Given the description of an element on the screen output the (x, y) to click on. 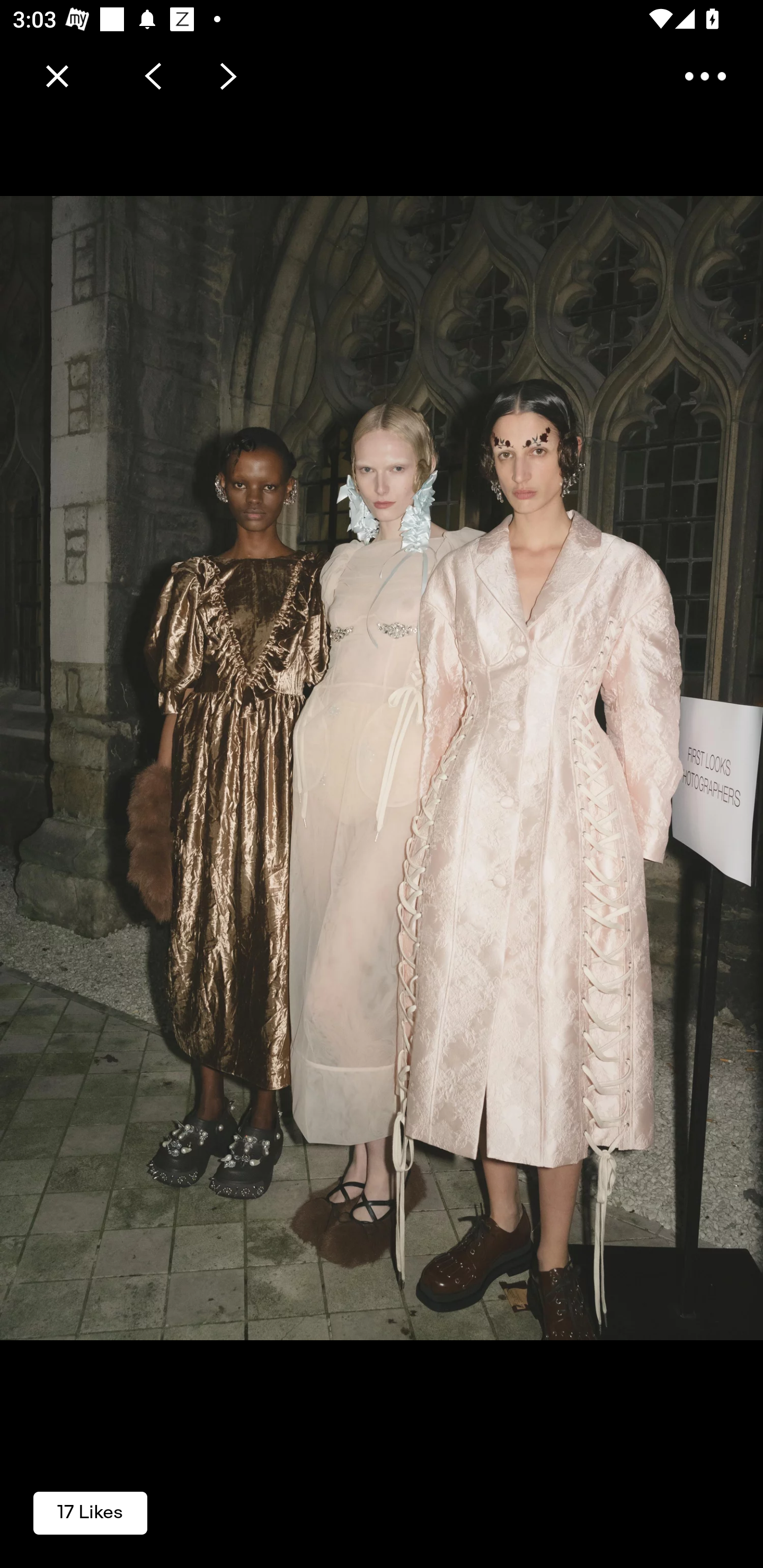
17 Likes (90, 1512)
